Given the description of an element on the screen output the (x, y) to click on. 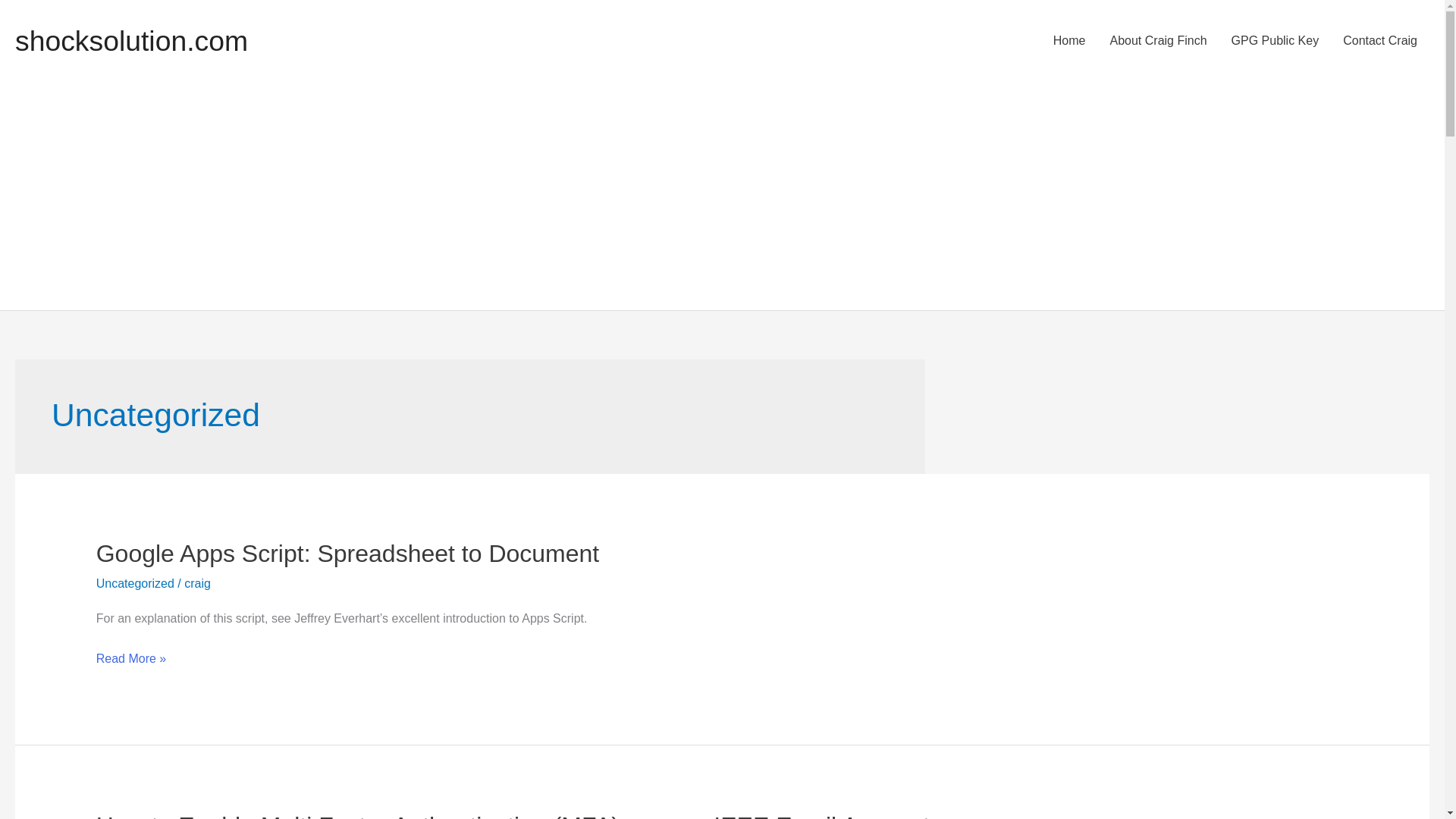
About Craig Finch (1158, 40)
GPG Public Key (1276, 40)
Google Apps Script: Spreadsheet to Document (347, 553)
Uncategorized (135, 583)
shocksolution.com (130, 40)
View all posts by craig (197, 583)
Home (1069, 40)
craig (197, 583)
Contact Craig (1379, 40)
